Given the description of an element on the screen output the (x, y) to click on. 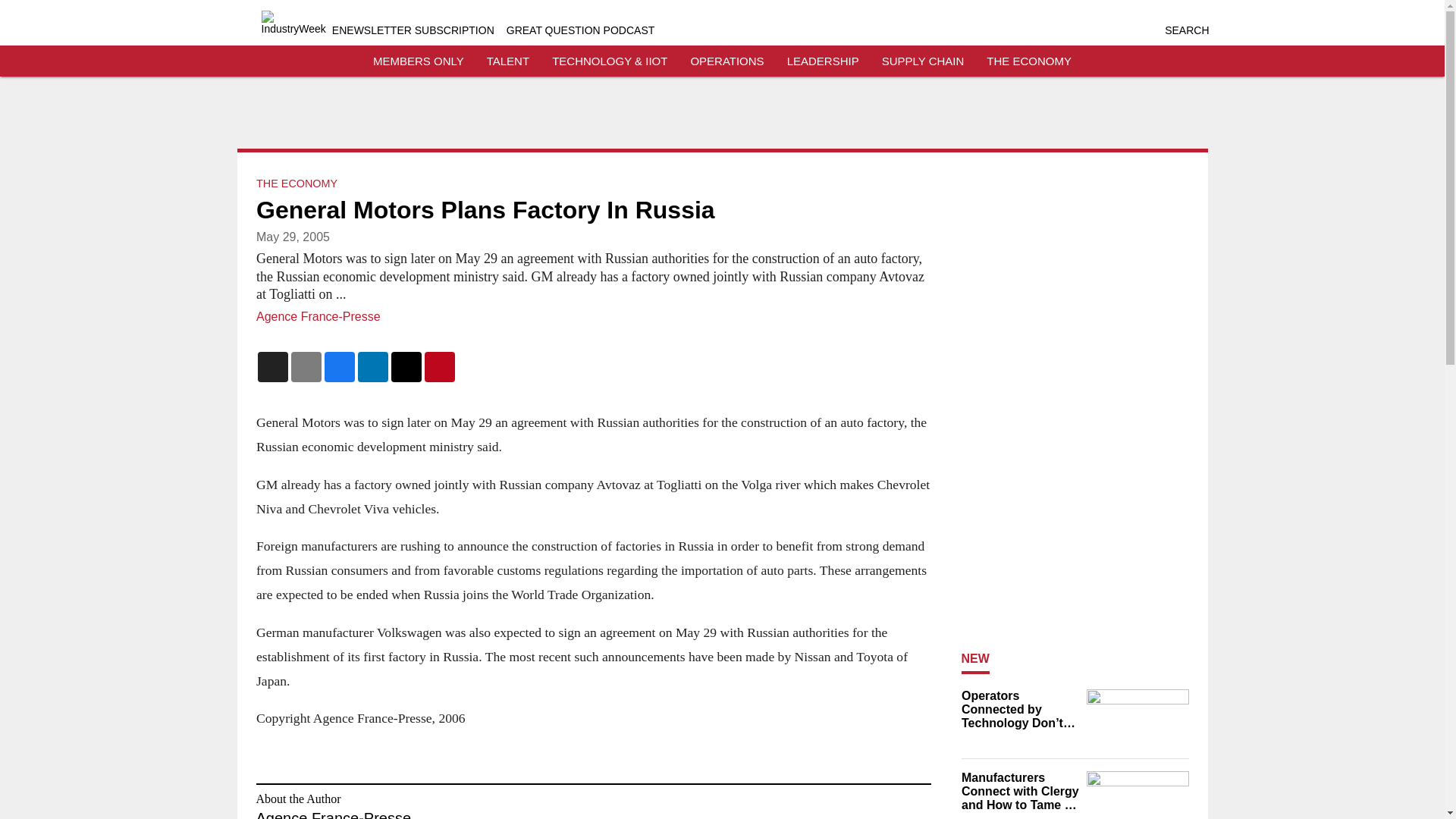
Agence France-Presse (318, 316)
TALENT (507, 60)
OPERATIONS (726, 60)
MEMBERS ONLY (418, 60)
THE ECONOMY (1029, 60)
LEADERSHIP (823, 60)
GREAT QUESTION PODCAST (580, 30)
THE ECONOMY (296, 183)
SEARCH (1186, 30)
SUPPLY CHAIN (922, 60)
